Given the description of an element on the screen output the (x, y) to click on. 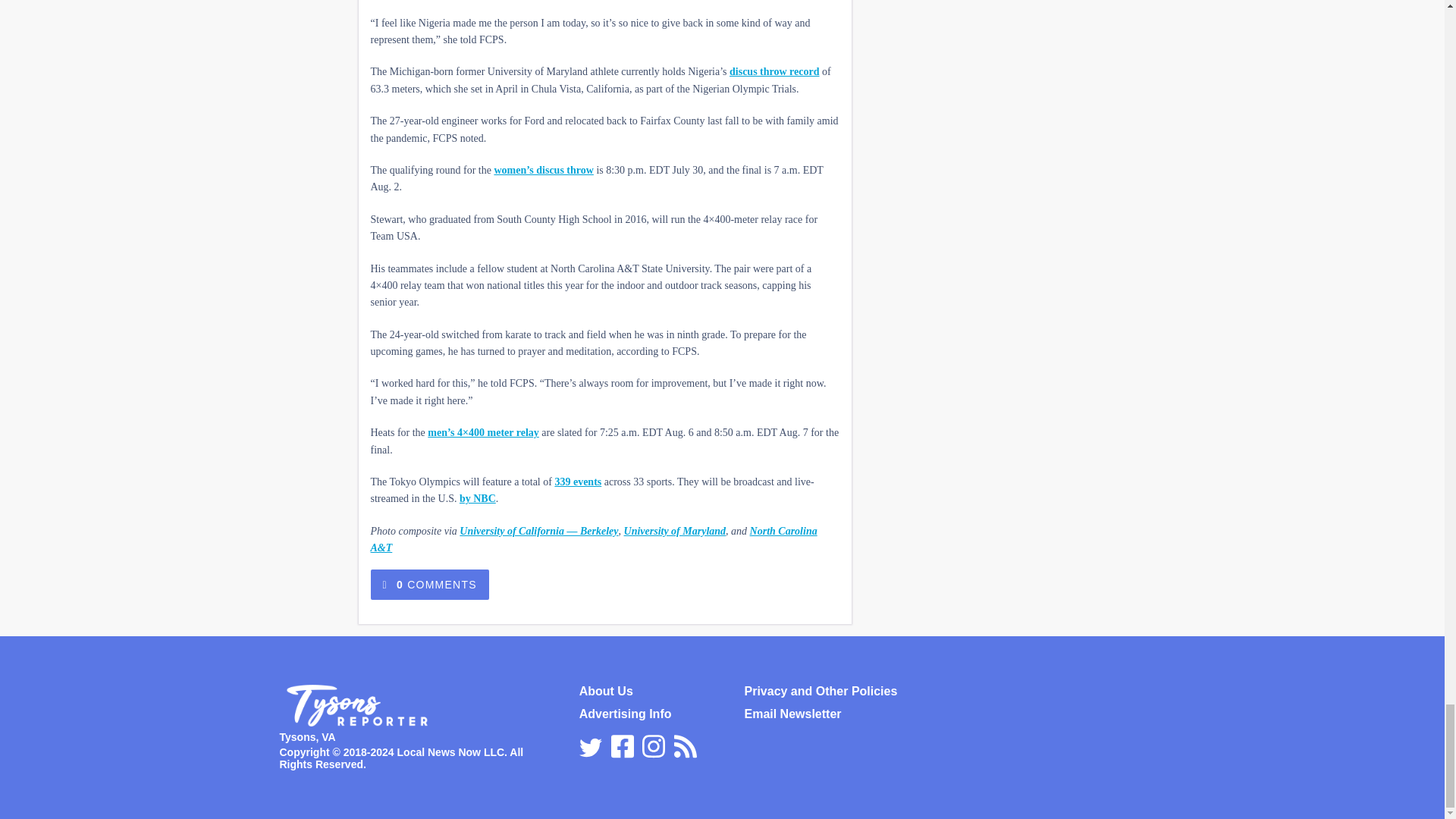
Facebook (622, 744)
RSS (685, 744)
Twitter (590, 747)
Instagram (653, 744)
